Given the description of an element on the screen output the (x, y) to click on. 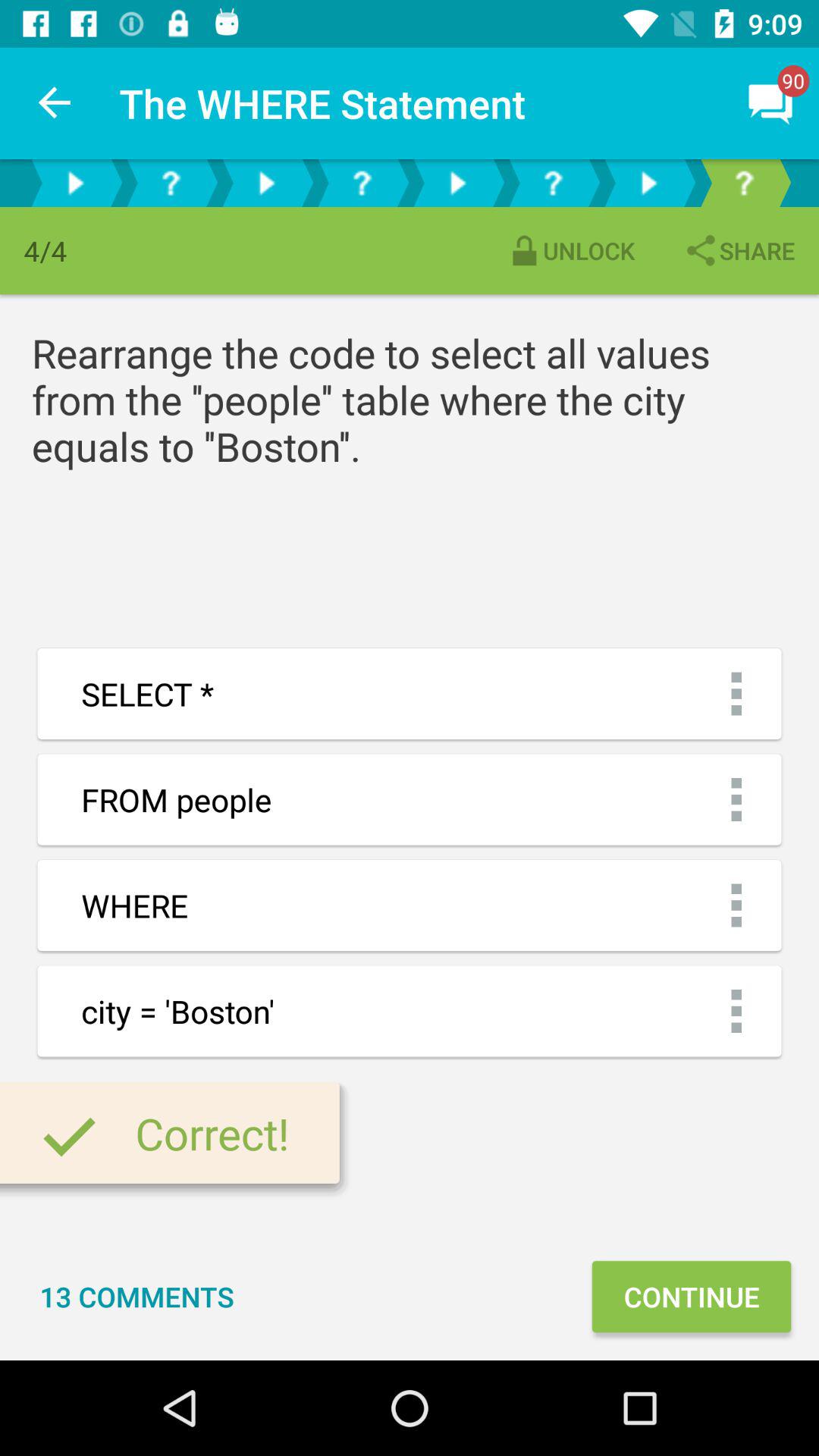
button to go to the next step (74, 183)
